Given the description of an element on the screen output the (x, y) to click on. 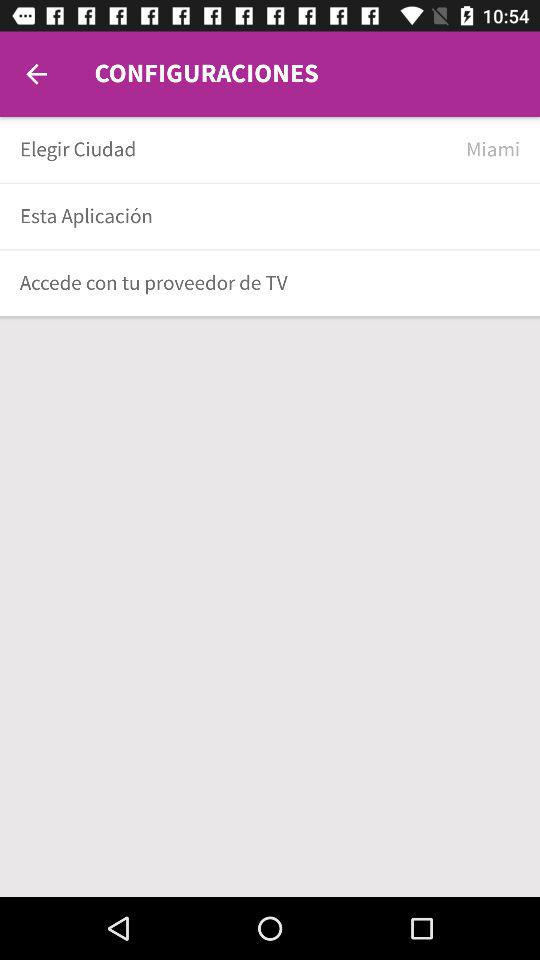
go to back (36, 74)
